Given the description of an element on the screen output the (x, y) to click on. 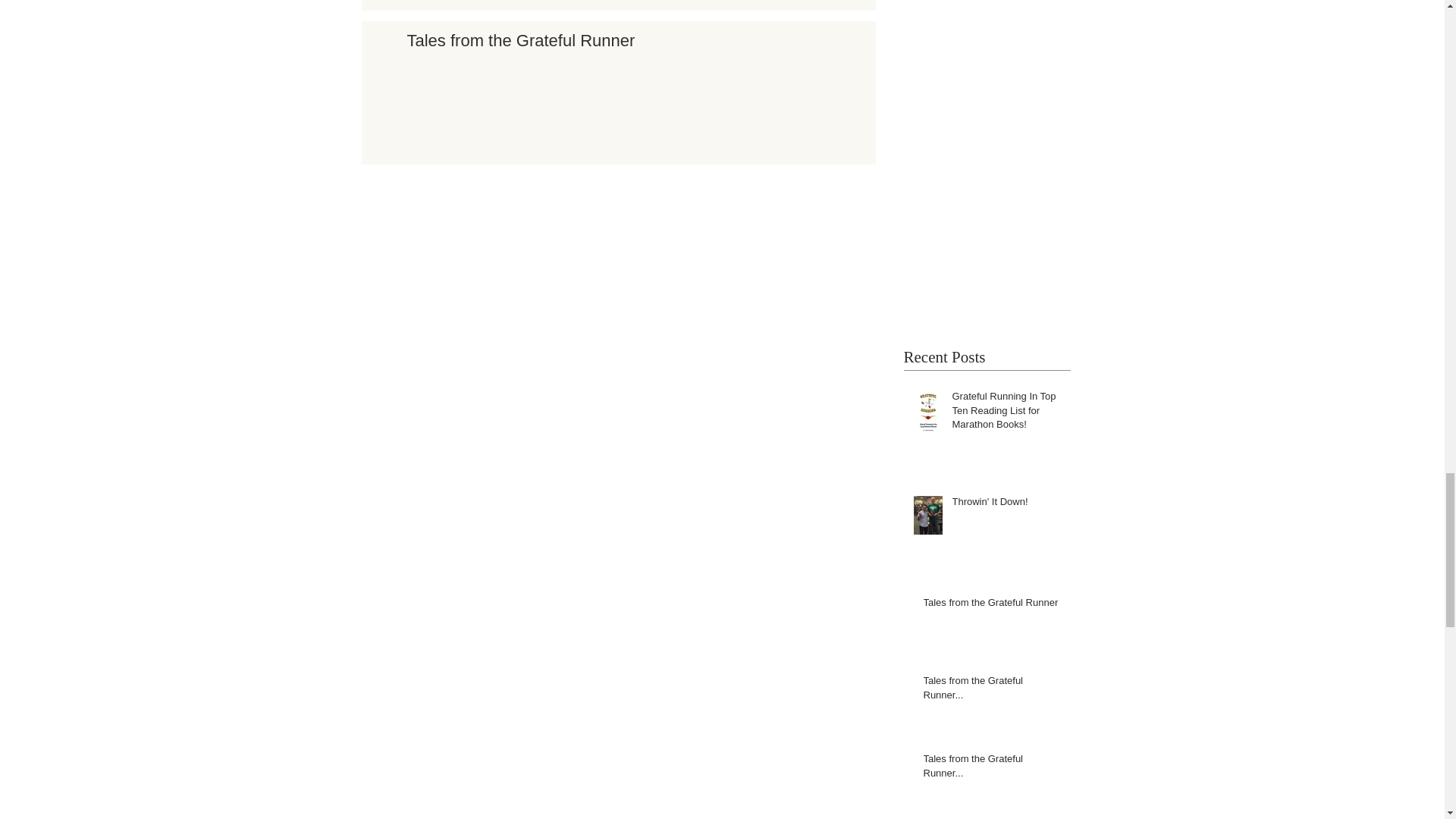
Tales from the Grateful Runner (992, 605)
Tales from the Grateful Runner... (992, 690)
Grateful Running In Top Ten Reading List for Marathon Books! (1006, 413)
Tales from the Grateful Runner (622, 43)
Throwin' It Down! (1006, 505)
Tales from the Grateful Runner... (992, 768)
